Given the description of an element on the screen output the (x, y) to click on. 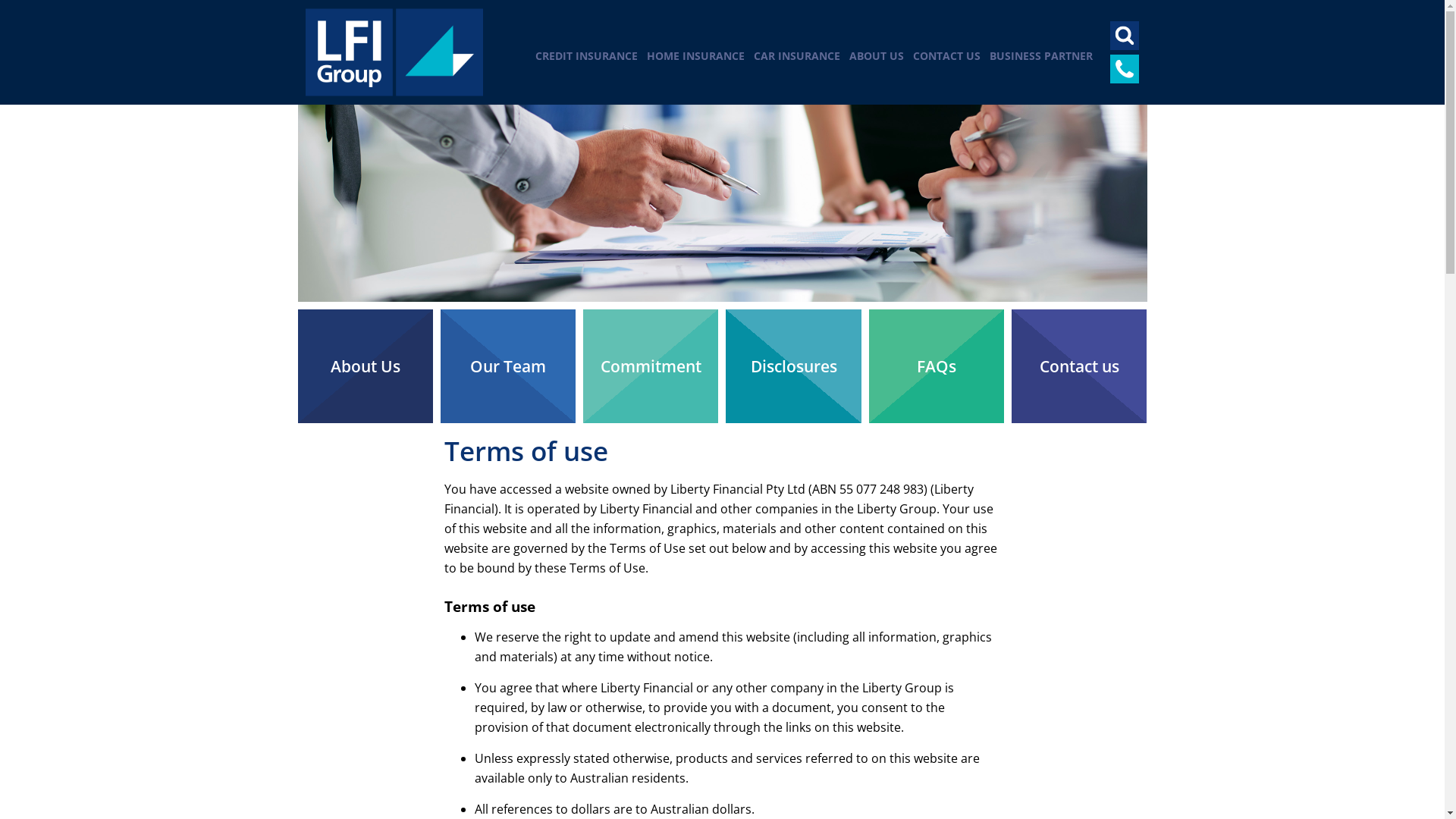
Commitment Element type: text (650, 366)
Our Team Element type: text (507, 366)
Disclosures Element type: text (792, 366)
HOME INSURANCE Element type: text (699, 55)
BUSINESS PARTNER Element type: text (1044, 55)
Contact Us Element type: text (1124, 68)
Contact us Element type: text (1078, 366)
FAQs Element type: text (936, 366)
CREDIT INSURANCE Element type: text (590, 55)
CONTACT US Element type: text (951, 55)
Search Element type: text (1124, 35)
About Us Element type: text (364, 366)
CAR INSURANCE Element type: text (801, 55)
ABOUT US Element type: text (881, 55)
